Given the description of an element on the screen output the (x, y) to click on. 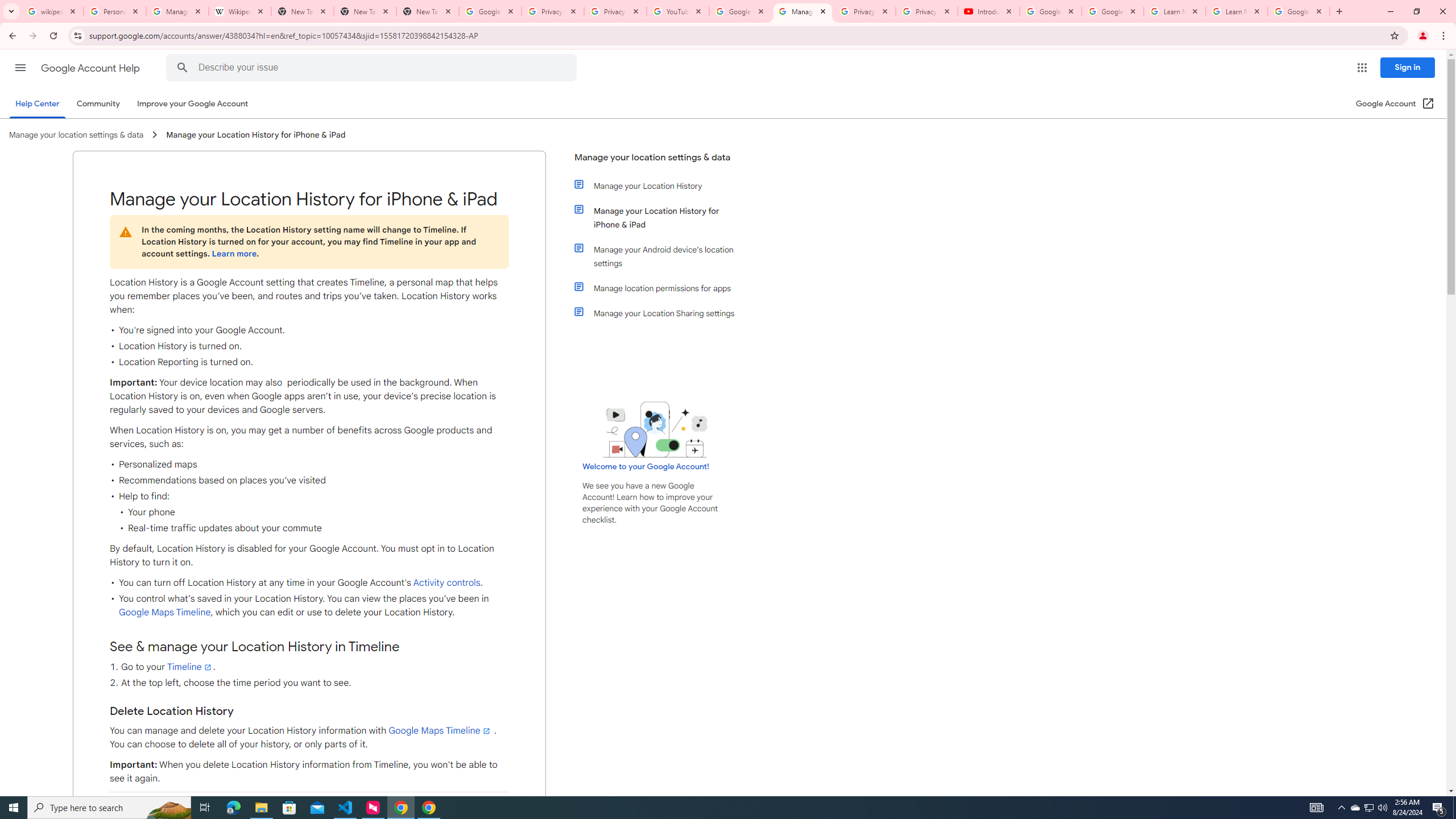
Manage your Location History for iPhone & iPad (661, 217)
Personalization & Google Search results - Google Search Help (114, 11)
Google Maps Timeline (440, 730)
Timeline (188, 667)
Wikipedia:Edit requests - Wikipedia (239, 11)
Google Account Help (91, 68)
Google Account Help (1050, 11)
Activity controls (446, 582)
